Given the description of an element on the screen output the (x, y) to click on. 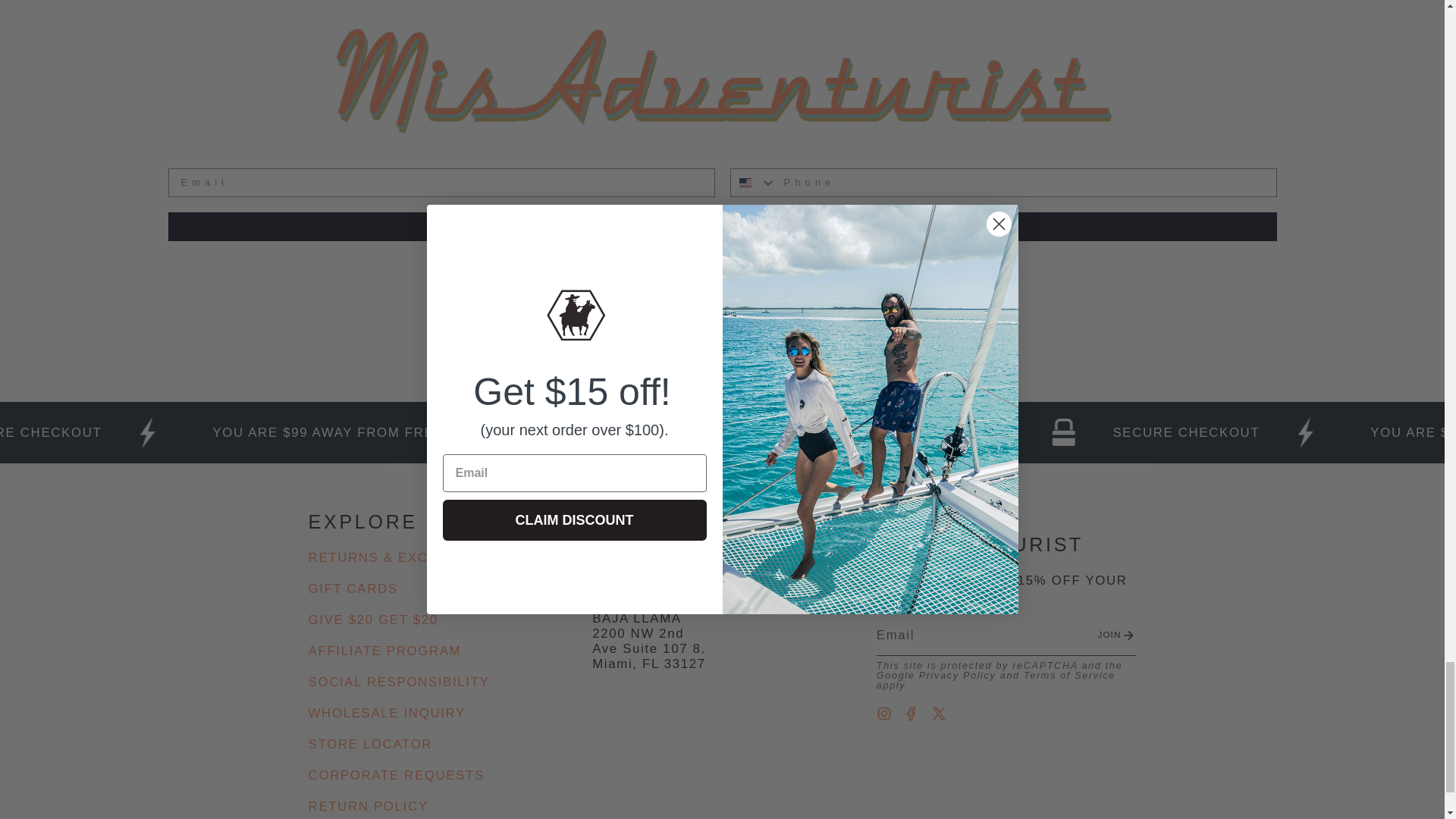
Bajallama on Facebook (911, 712)
United States (744, 182)
Bajallama on Instagram (883, 712)
Bajallama on Twitter (938, 712)
